Given the description of an element on the screen output the (x, y) to click on. 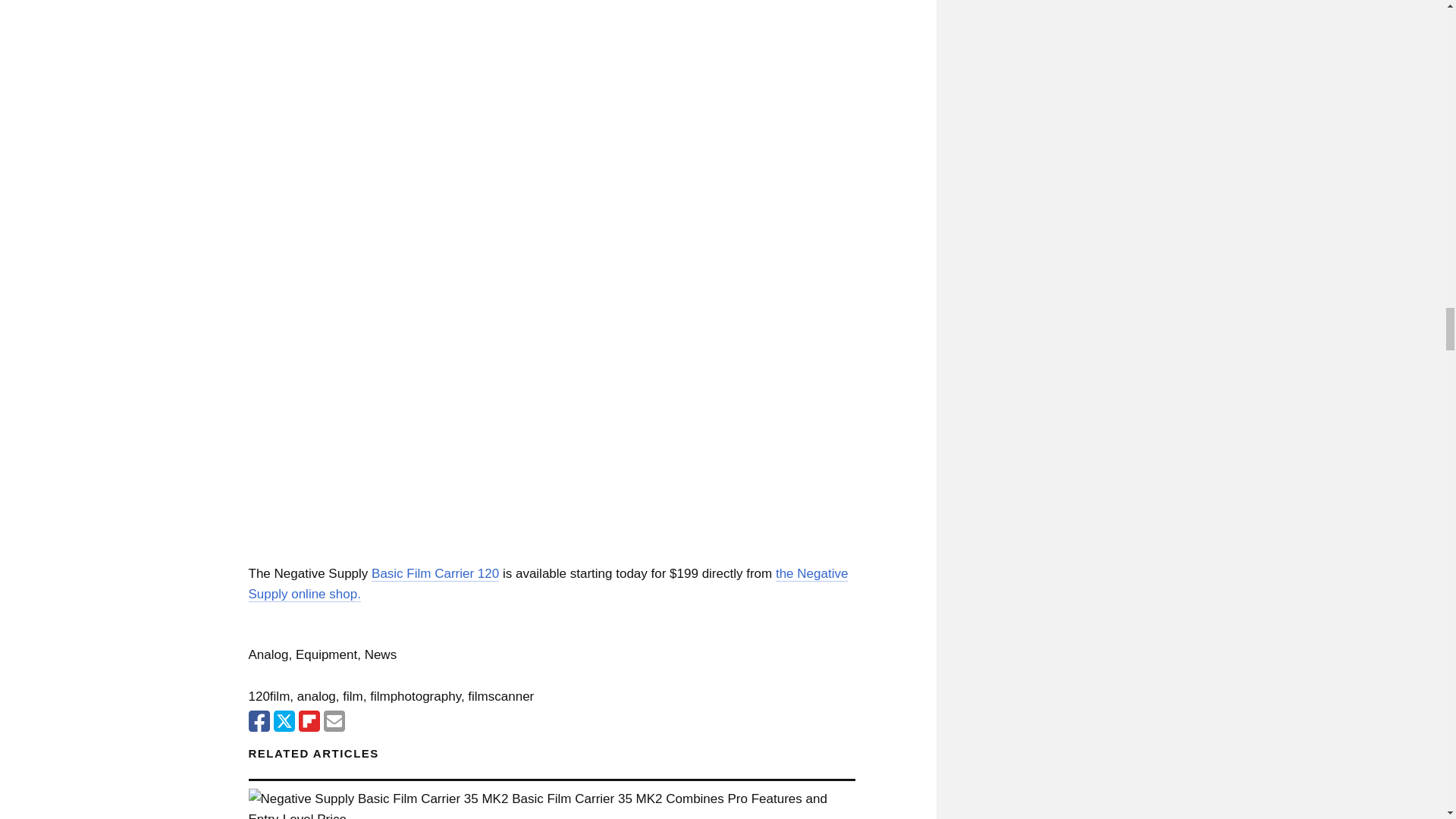
Equipment (325, 654)
Share on facebook (258, 721)
analog (316, 696)
Share on X (283, 721)
News (381, 654)
film (352, 696)
filmphotography (415, 696)
120film (268, 696)
Analog (268, 654)
the Negative Supply online shop. (548, 583)
filmscanner (500, 696)
Email this article (333, 721)
Share on Flipboard (309, 721)
Basic Film Carrier 120 (435, 573)
